Given the description of an element on the screen output the (x, y) to click on. 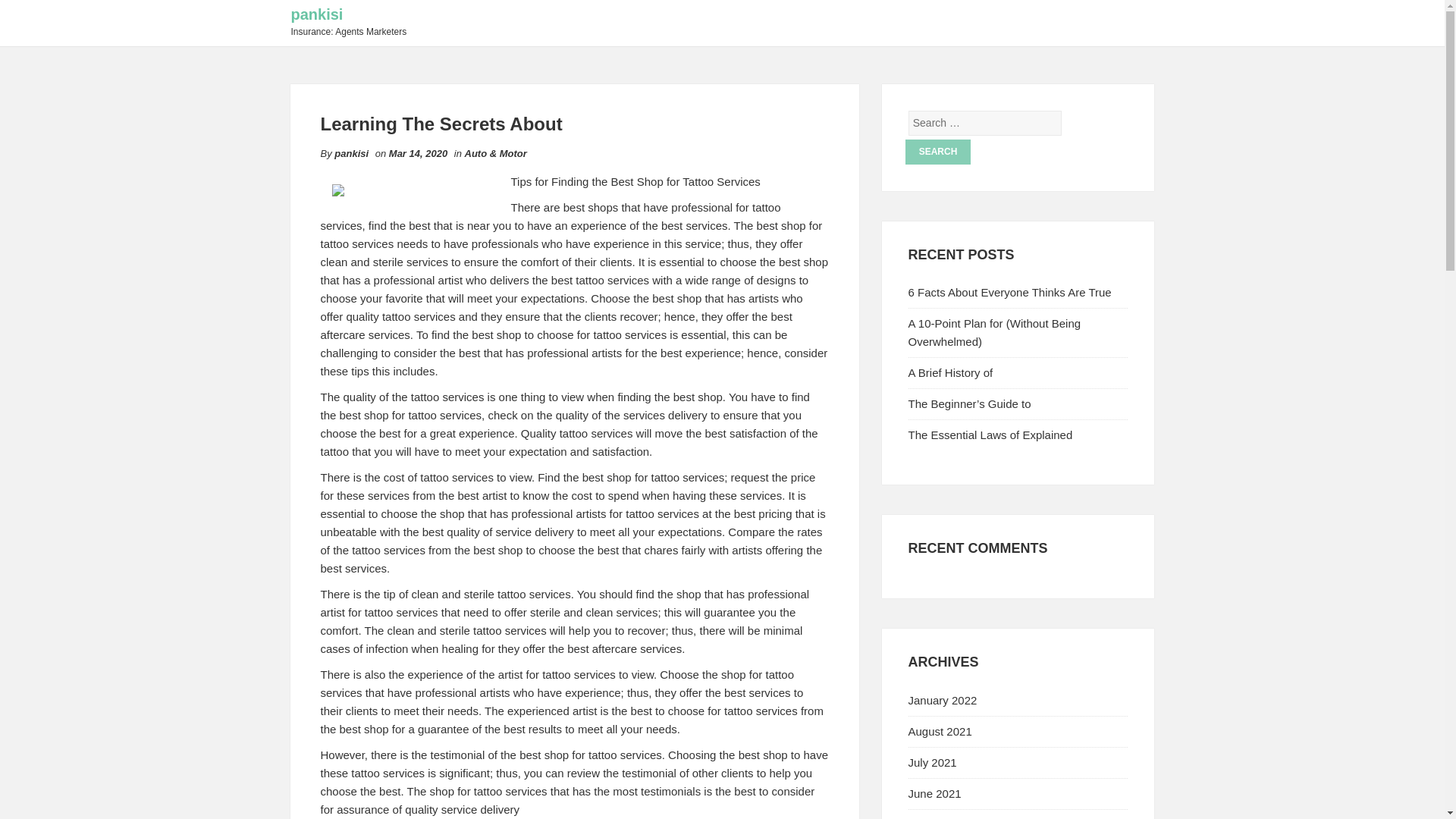
January 2022 (942, 699)
6 Facts About Everyone Thinks Are True (1010, 291)
Search (938, 151)
Search (938, 151)
Search (938, 151)
May 2021 (933, 818)
A Brief History of (950, 372)
pankisi (317, 13)
The Essential Laws of Explained (990, 434)
pankisi (351, 153)
